Given the description of an element on the screen output the (x, y) to click on. 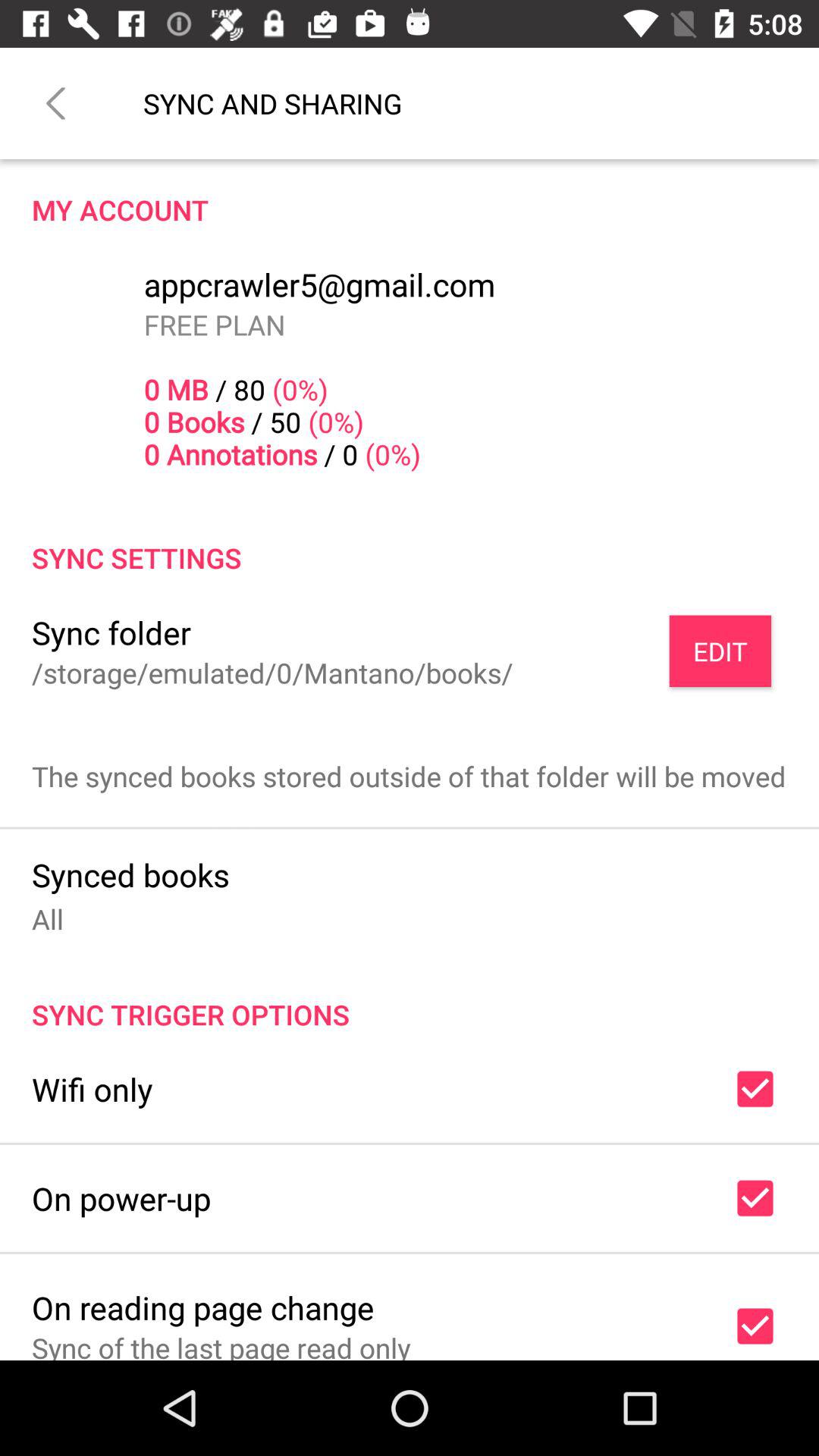
flip to all icon (47, 918)
